Given the description of an element on the screen output the (x, y) to click on. 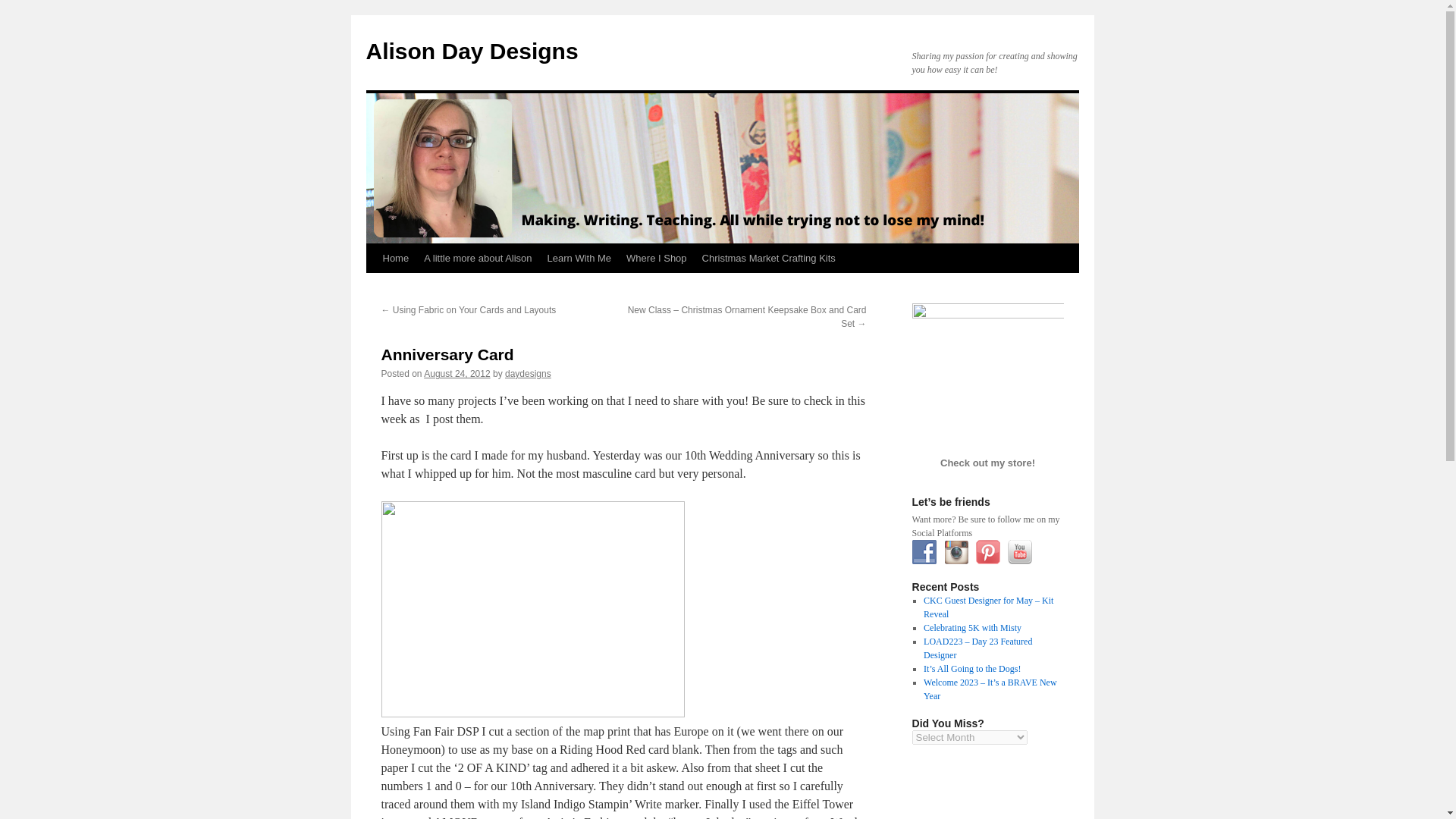
View all posts by daydesigns (528, 373)
Follow Me on Instagram (955, 551)
Learn With Me (580, 258)
Follow Me on Pinterest (986, 551)
Follow Me on YouTube (1018, 551)
A little more about Alison (477, 258)
11:06 AM (456, 373)
Home (395, 258)
daydesigns (528, 373)
August 24, 2012 (456, 373)
